Given the description of an element on the screen output the (x, y) to click on. 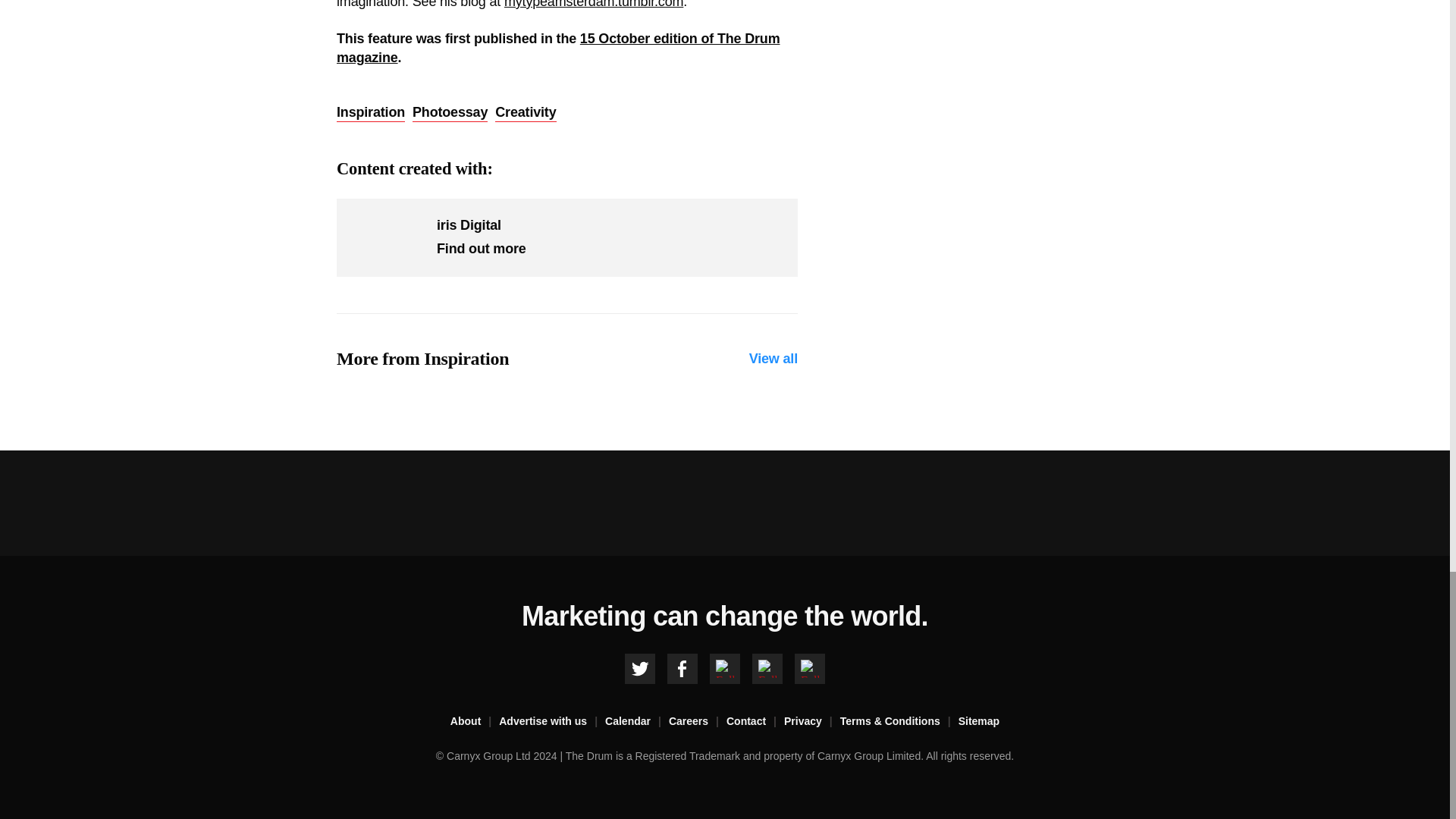
Photoessay (449, 113)
Find out more (480, 248)
Creativity (525, 113)
15 October edition of The Drum magazine (557, 48)
mytypeamsterdam.tumblr.com (592, 4)
Advertise with us (552, 721)
About (474, 721)
View all (773, 358)
Inspiration (370, 113)
